Given the description of an element on the screen output the (x, y) to click on. 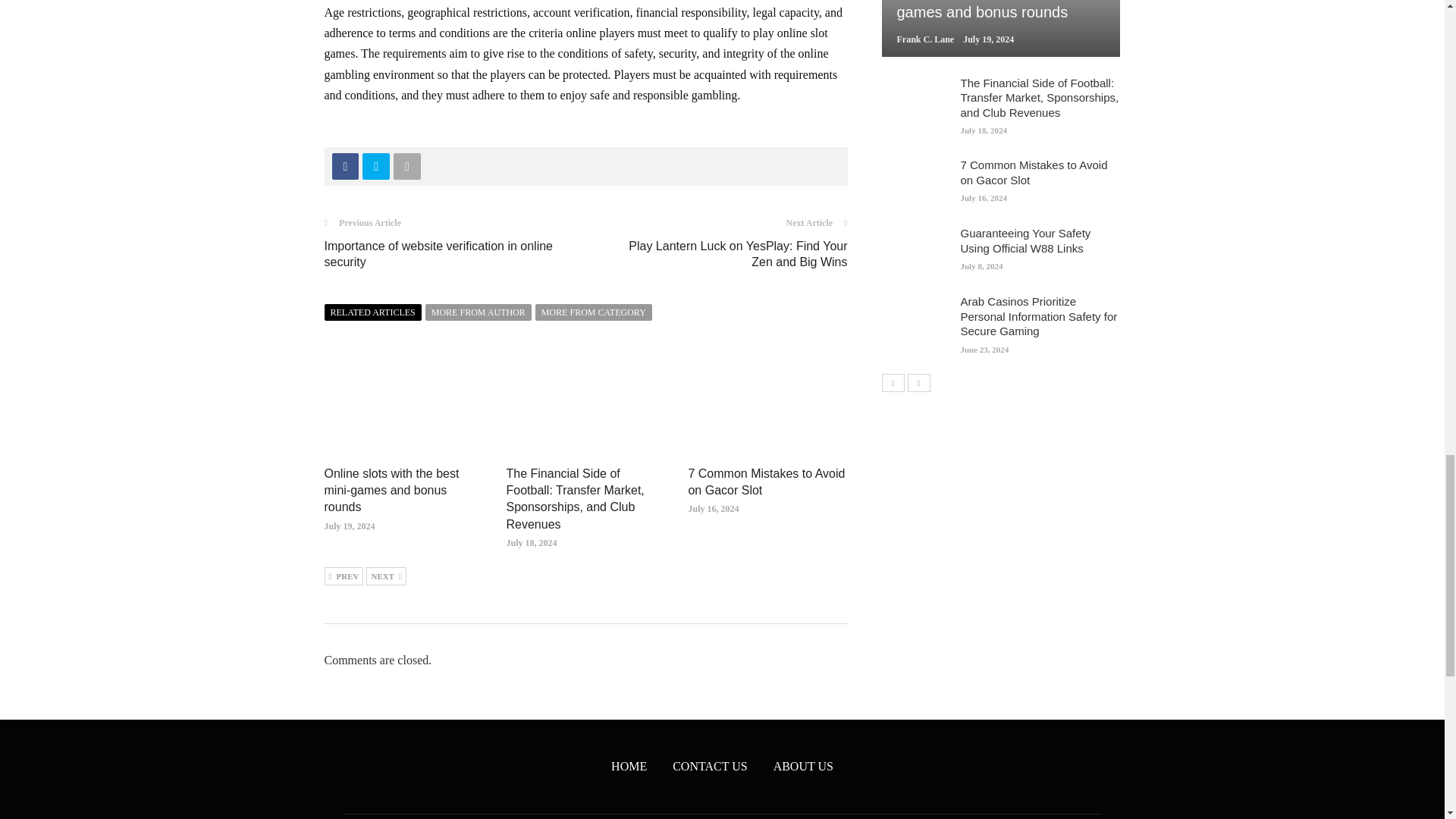
Previous (344, 576)
MORE FROM CATEGORY (593, 312)
MORE FROM AUTHOR (478, 312)
Importance of website verification in online security (438, 253)
Play Lantern Luck on YesPlay: Find Your Zen and Big Wins (737, 253)
RELATED ARTICLES (373, 312)
